Given the description of an element on the screen output the (x, y) to click on. 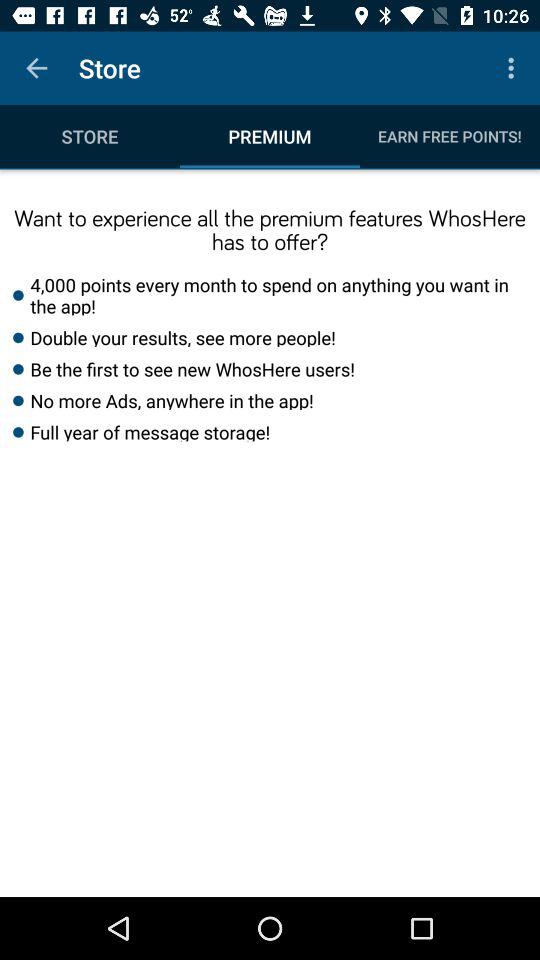
turn off icon to the right of the store app (513, 67)
